Given the description of an element on the screen output the (x, y) to click on. 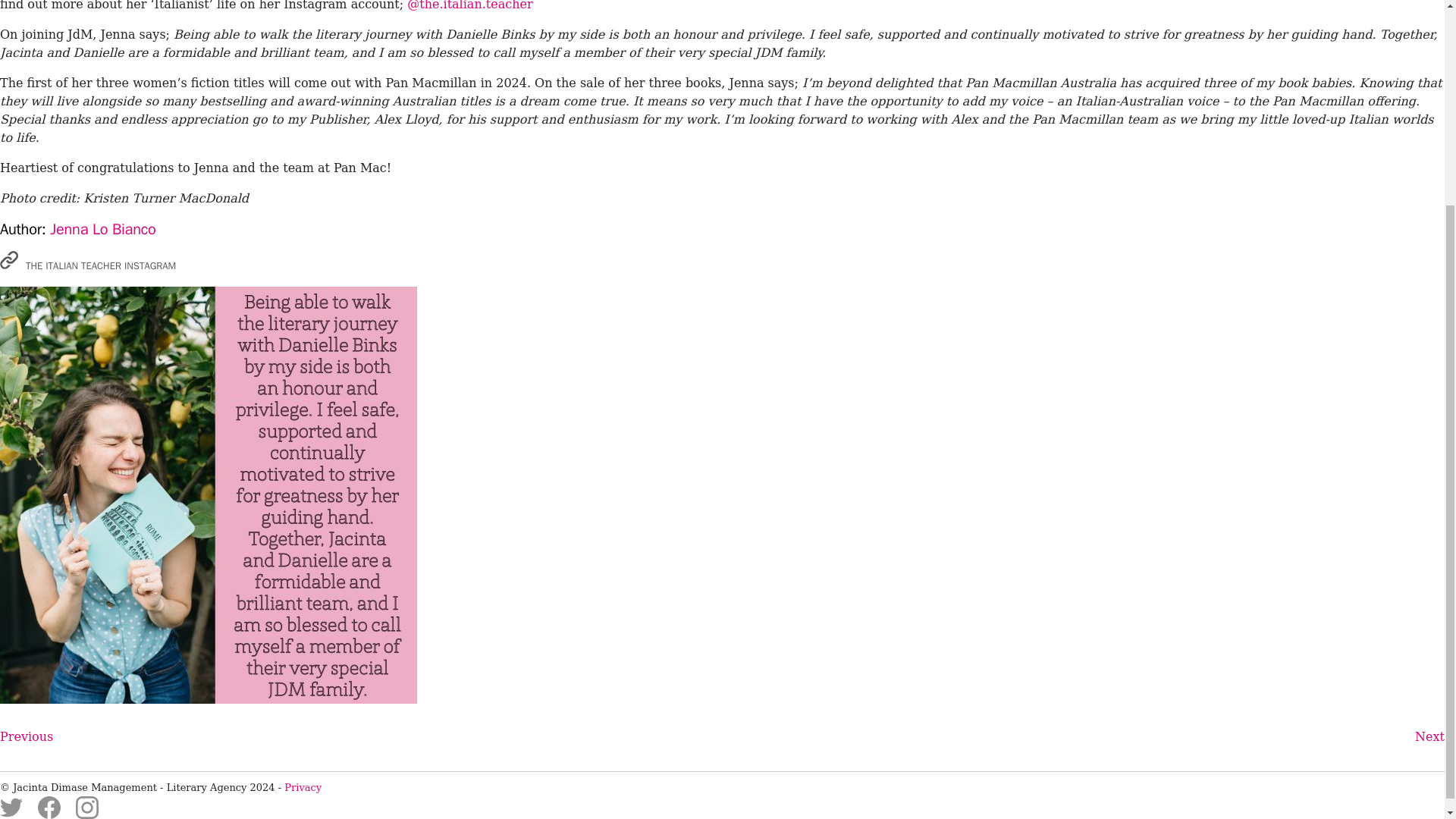
THE ITALIAN TEACHER INSTAGRAM (88, 261)
Privacy (302, 787)
Jenna Lo Bianco (102, 229)
Previous (26, 737)
Anna Clark longlisted in the Walkley Book Awards! (26, 737)
